Given the description of an element on the screen output the (x, y) to click on. 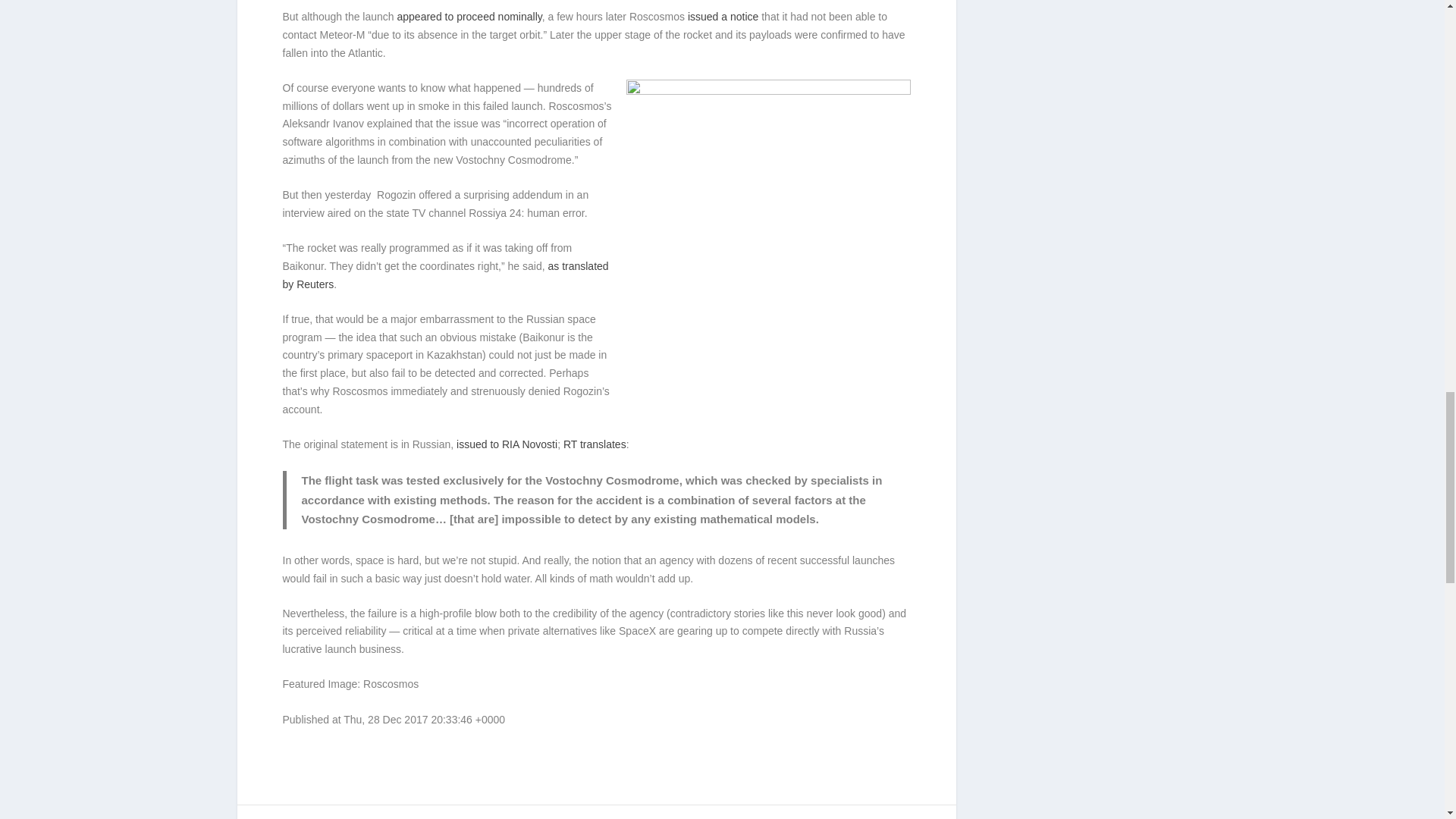
appeared to proceed nominally (469, 16)
as translated by Reuters (445, 275)
RT translates (594, 444)
issued a notice (722, 16)
issued to RIA Novosti (507, 444)
